Given the description of an element on the screen output the (x, y) to click on. 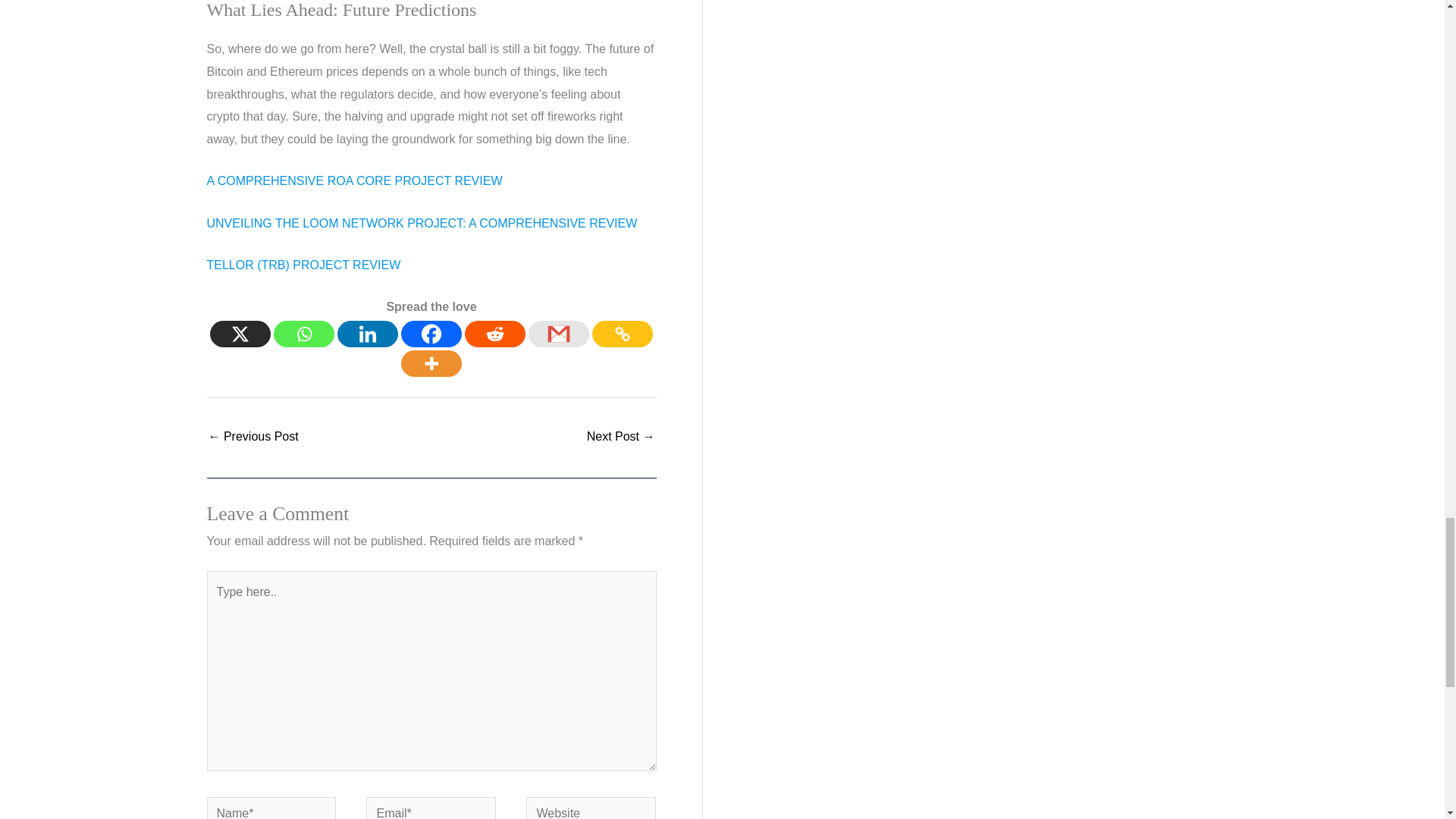
Facebook (431, 334)
Why Dexe Token Price is Up, Major Factors (620, 438)
UNVEILING THE LOOM NETWORK PROJECT: A COMPREHENSIVE REVIEW (421, 223)
Linkedin (367, 334)
Reddit (494, 334)
Google Gmail (558, 334)
More (431, 363)
Copy Link (622, 334)
A COMPREHENSIVE ROA CORE PROJECT REVIEW (354, 180)
X (239, 334)
Whatsapp (303, 334)
